Given the description of an element on the screen output the (x, y) to click on. 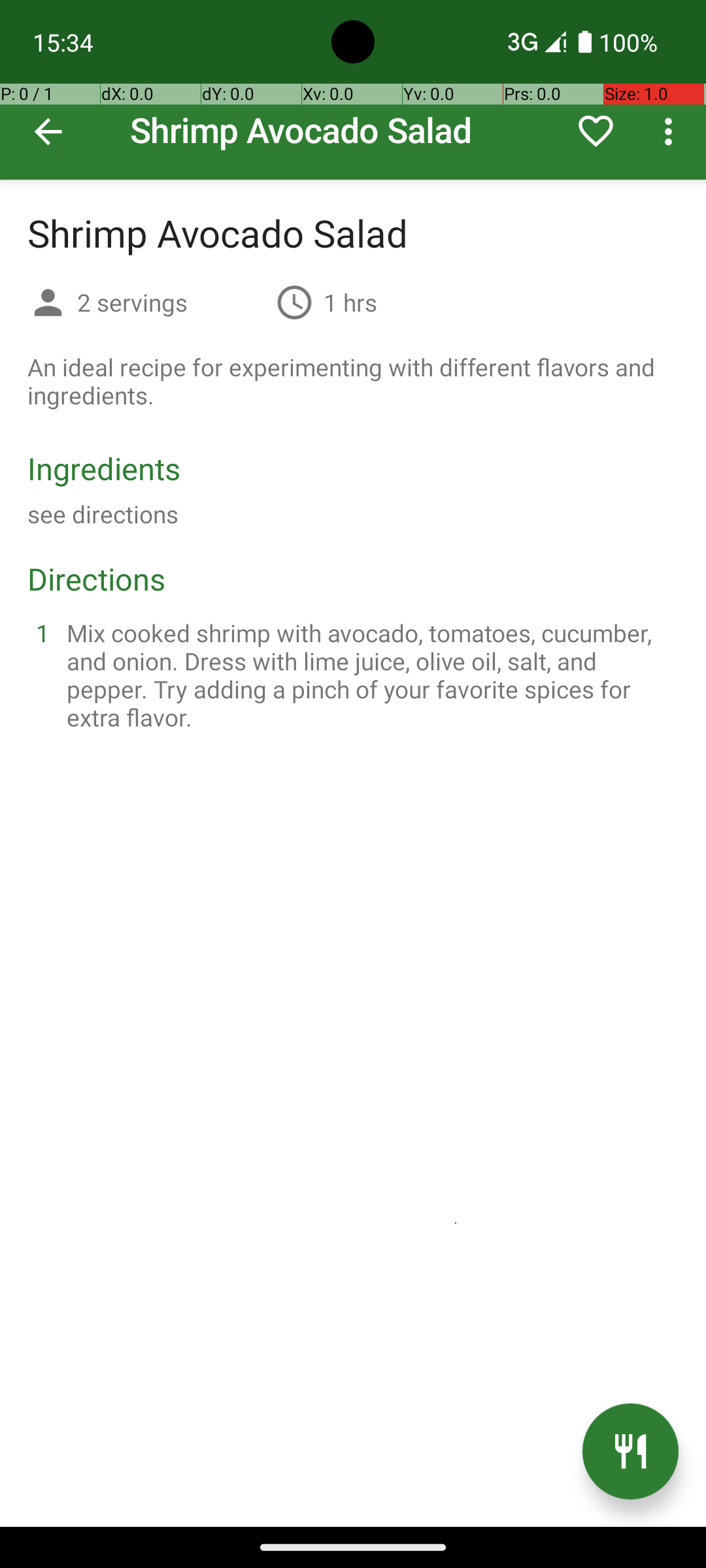
Shrimp Avocado Salad Element type: android.widget.FrameLayout (353, 89)
2 servings Element type: android.widget.TextView (170, 301)
1 hrs Element type: android.widget.TextView (350, 301)
see directions Element type: android.widget.TextView (102, 513)
Mix cooked shrimp with avocado, tomatoes, cucumber, and onion. Dress with lime juice, olive oil, salt, and pepper. Try adding a pinch of your favorite spices for extra flavor. Element type: android.widget.TextView (368, 674)
